Given the description of an element on the screen output the (x, y) to click on. 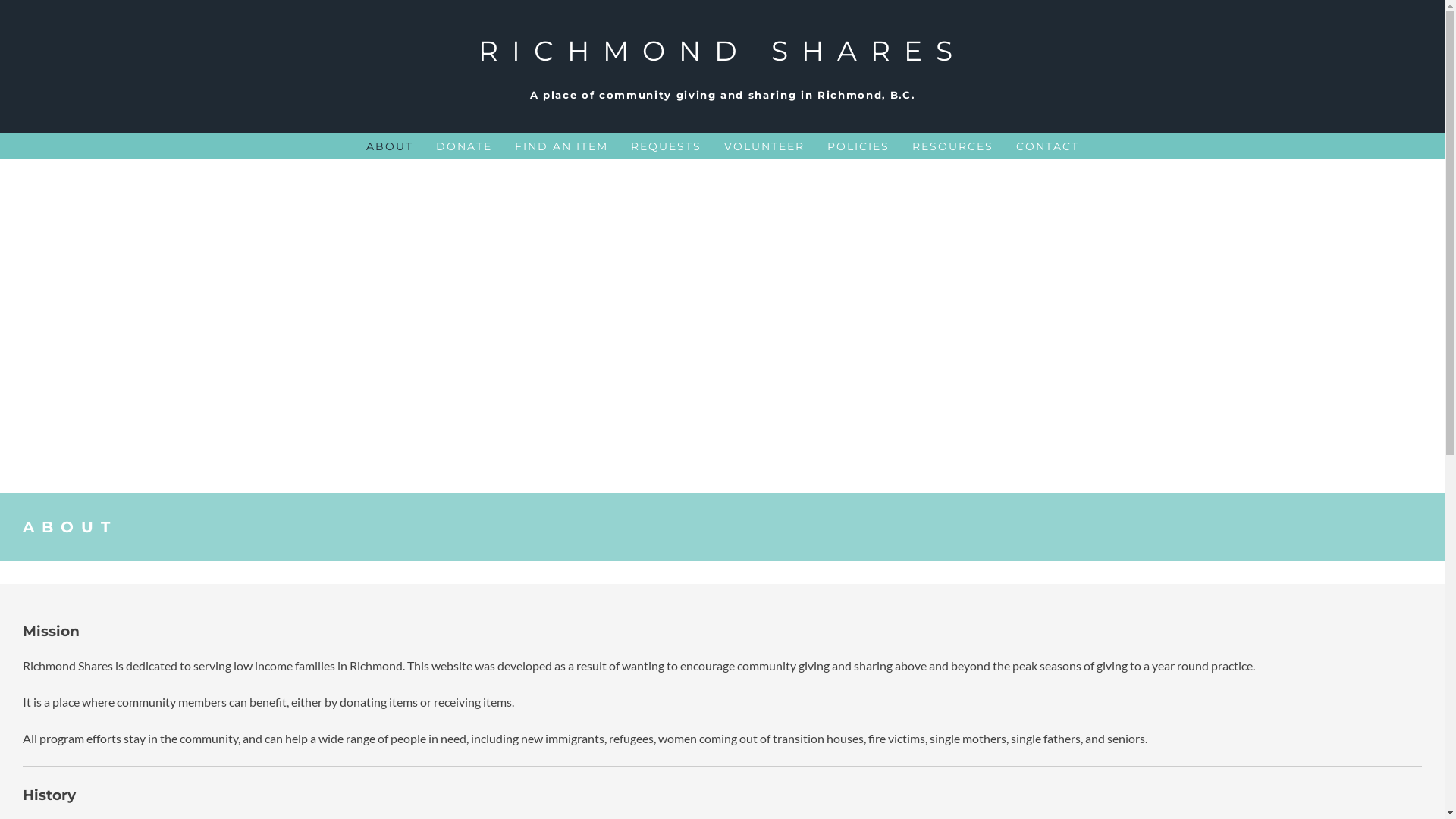
RICHMOND SHARES Element type: text (722, 50)
Skip to content Element type: text (0, 0)
POLICIES Element type: text (857, 146)
CONTACT Element type: text (1047, 146)
ABOUT Element type: text (388, 146)
REQUESTS Element type: text (665, 146)
RESOURCES Element type: text (951, 146)
DONATE Element type: text (463, 146)
VOLUNTEER Element type: text (763, 146)
FIND AN ITEM Element type: text (560, 146)
